Given the description of an element on the screen output the (x, y) to click on. 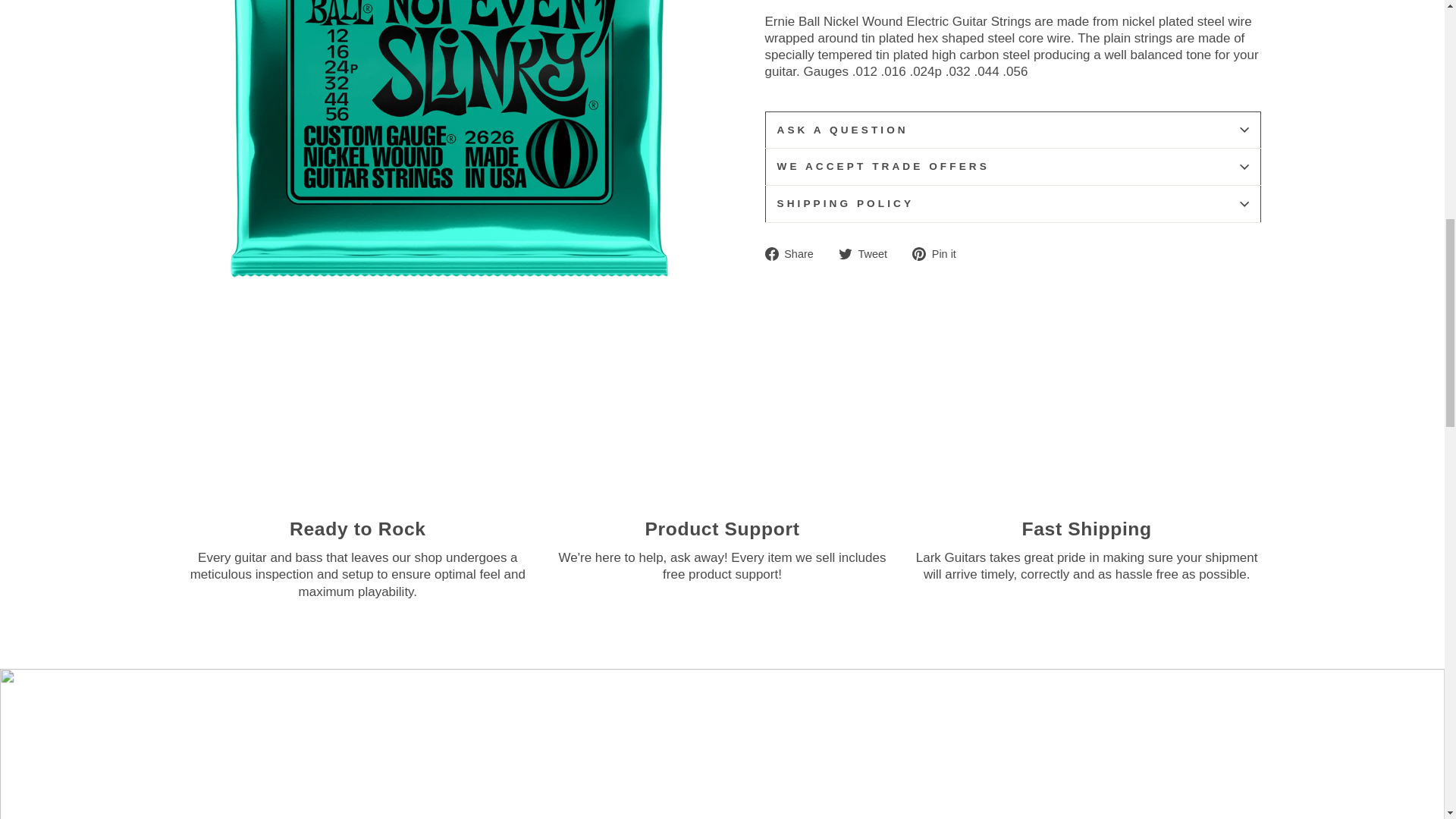
Share on Facebook (794, 253)
Pin on Pinterest (940, 253)
Tweet on Twitter (868, 253)
twitter (844, 254)
